Given the description of an element on the screen output the (x, y) to click on. 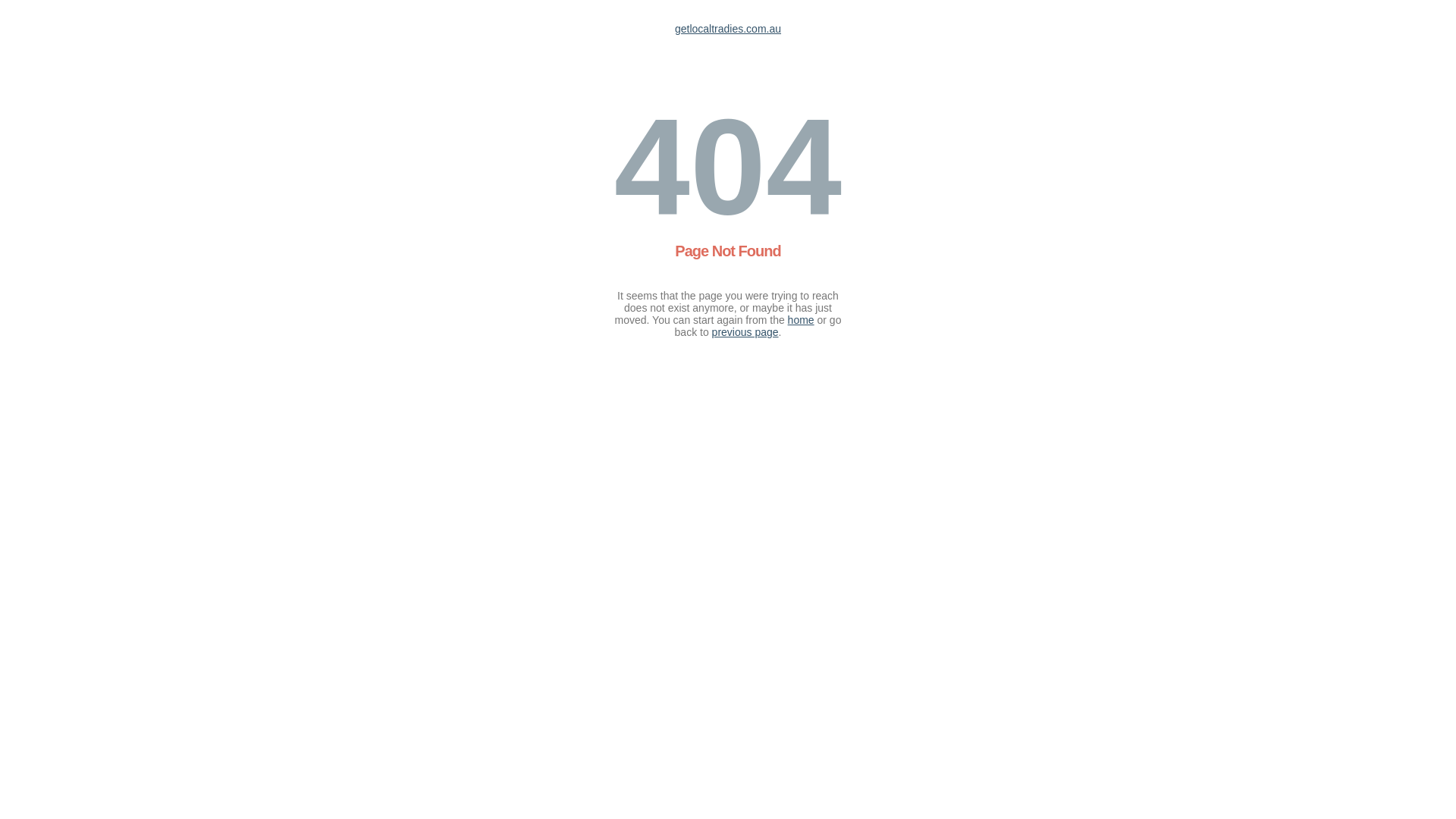
previous page Element type: text (745, 332)
getlocaltradies.com.au Element type: text (727, 28)
home Element type: text (800, 319)
